Given the description of an element on the screen output the (x, y) to click on. 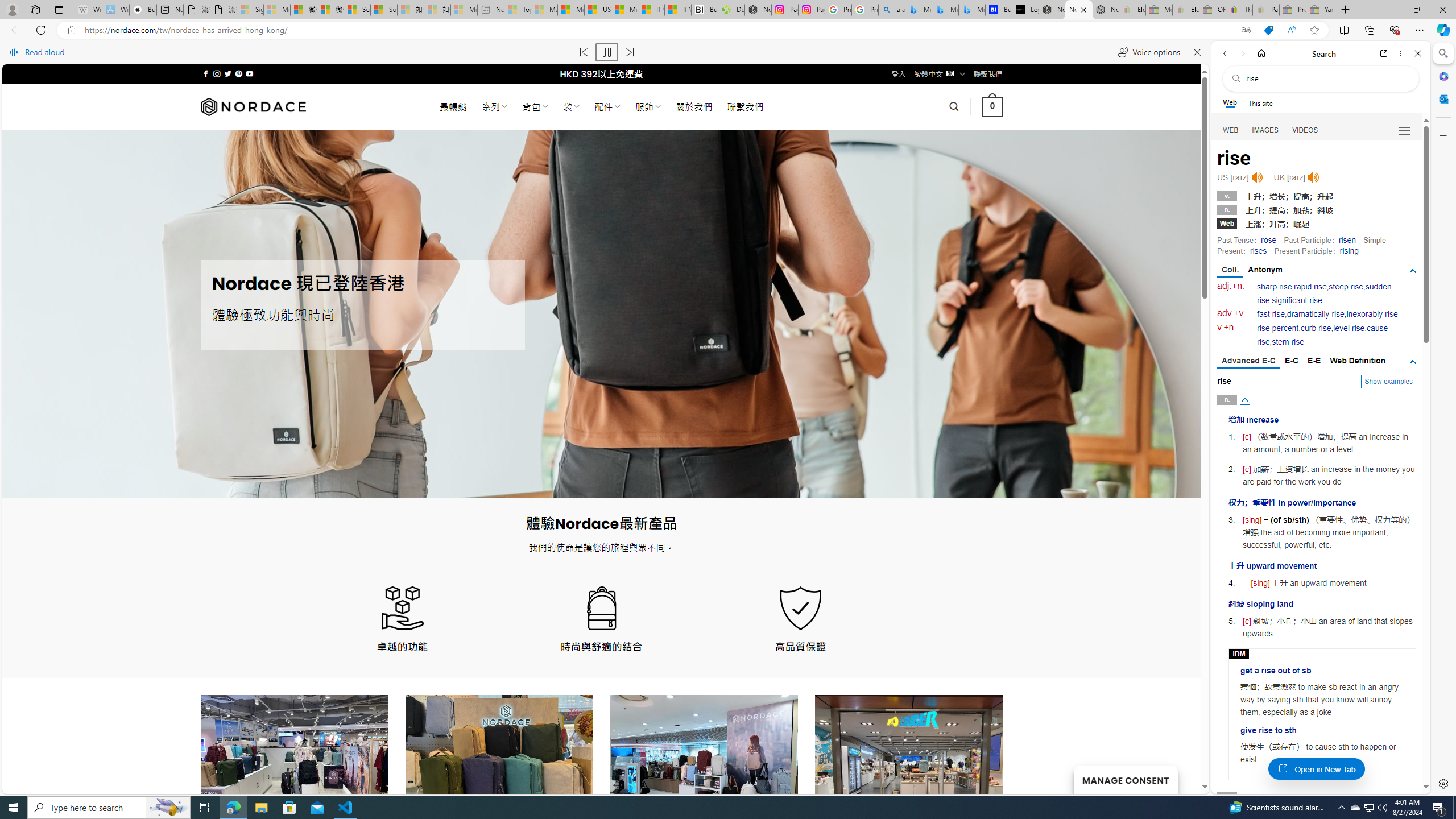
fast rise (1270, 313)
Web Definition (1357, 360)
risen (1347, 239)
rises (1257, 250)
WEB (1231, 130)
AutomationID: posbtn_0 (1245, 399)
Microsoft Bing Travel - Flights from Hong Kong to Bangkok (917, 9)
